Given the description of an element on the screen output the (x, y) to click on. 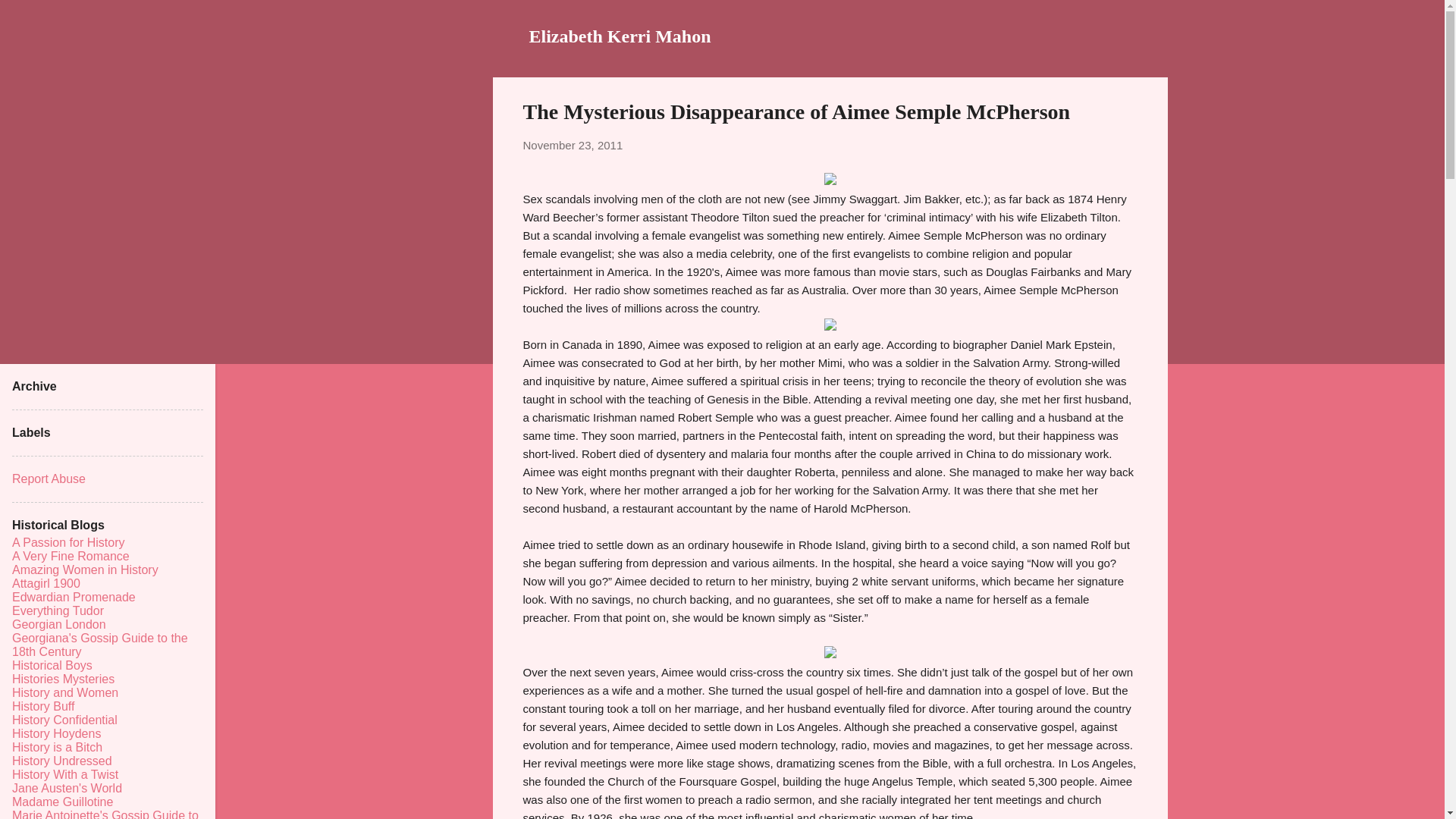
Search (29, 18)
November 23, 2011 (572, 144)
Elizabeth Kerri Mahon (620, 35)
permanent link (572, 144)
